Given the description of an element on the screen output the (x, y) to click on. 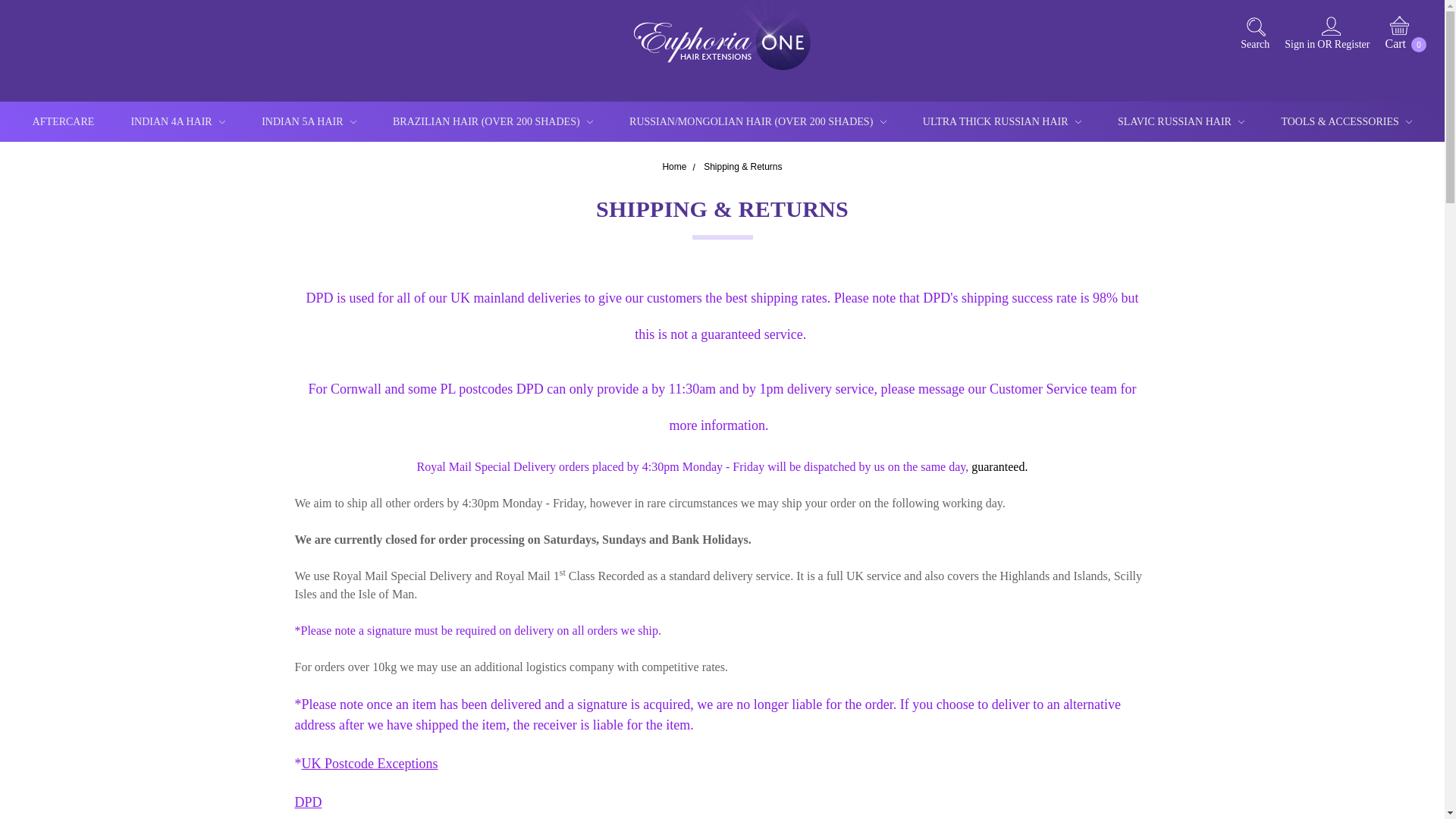
Euphoria One Hair Extensions (721, 38)
Search (1251, 39)
Sign in (1297, 48)
INDIAN 4A HAIR (177, 121)
INDIAN 5A HAIR (308, 121)
AFTERCARE (63, 121)
Register (1351, 50)
